Given the description of an element on the screen output the (x, y) to click on. 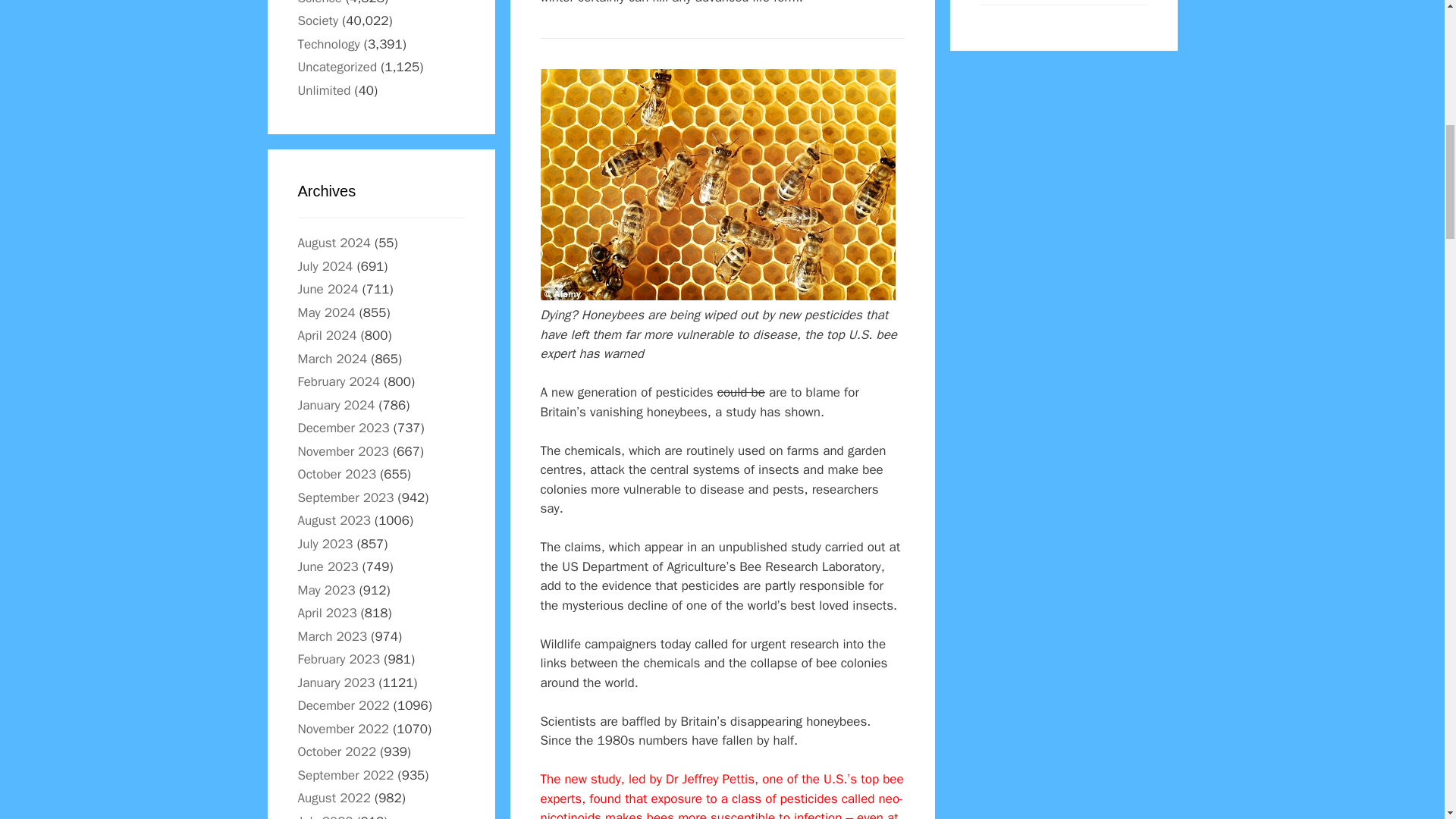
honeybees (717, 184)
